Given the description of an element on the screen output the (x, y) to click on. 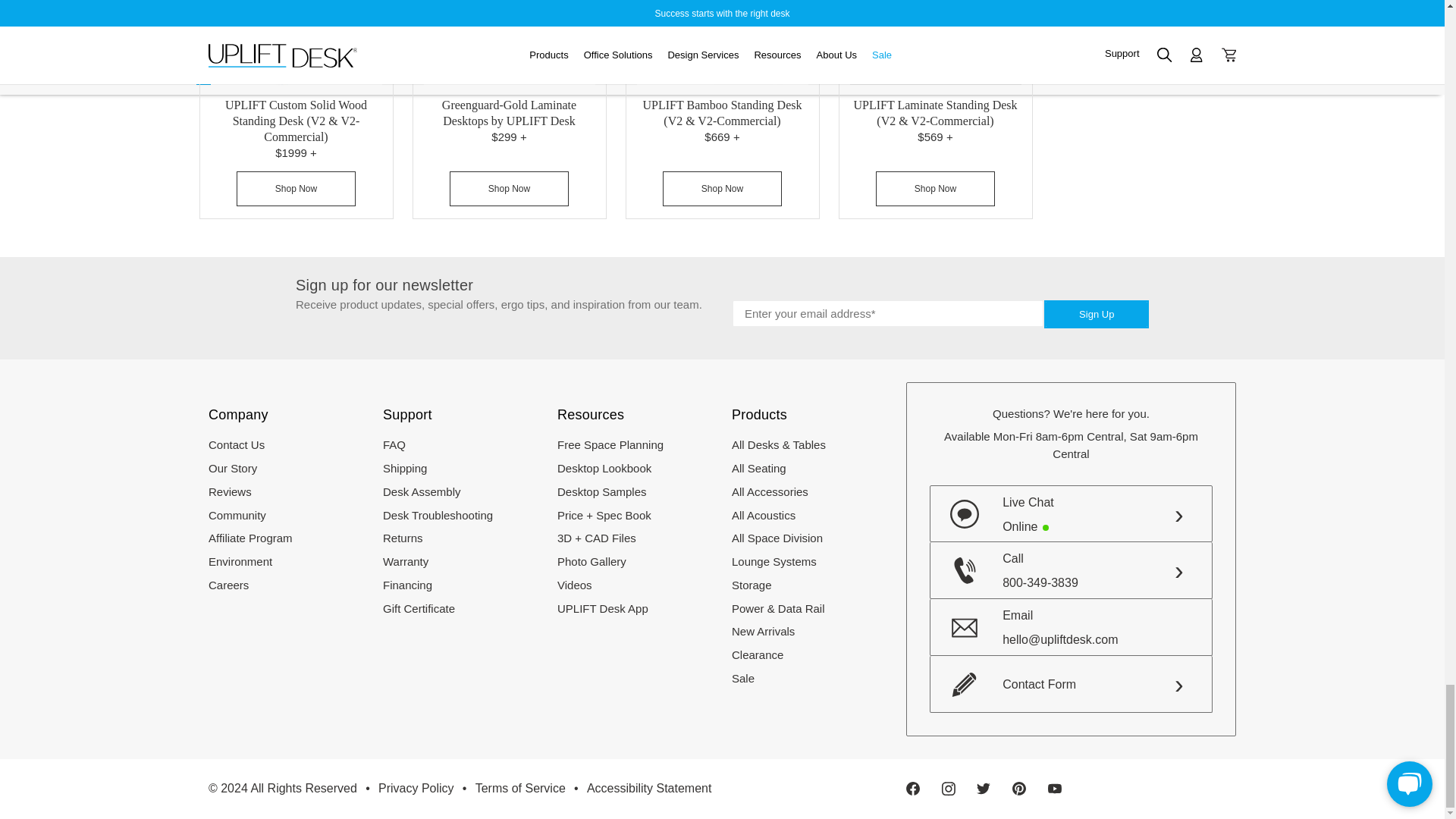
Sign Up (1096, 314)
